Given the description of an element on the screen output the (x, y) to click on. 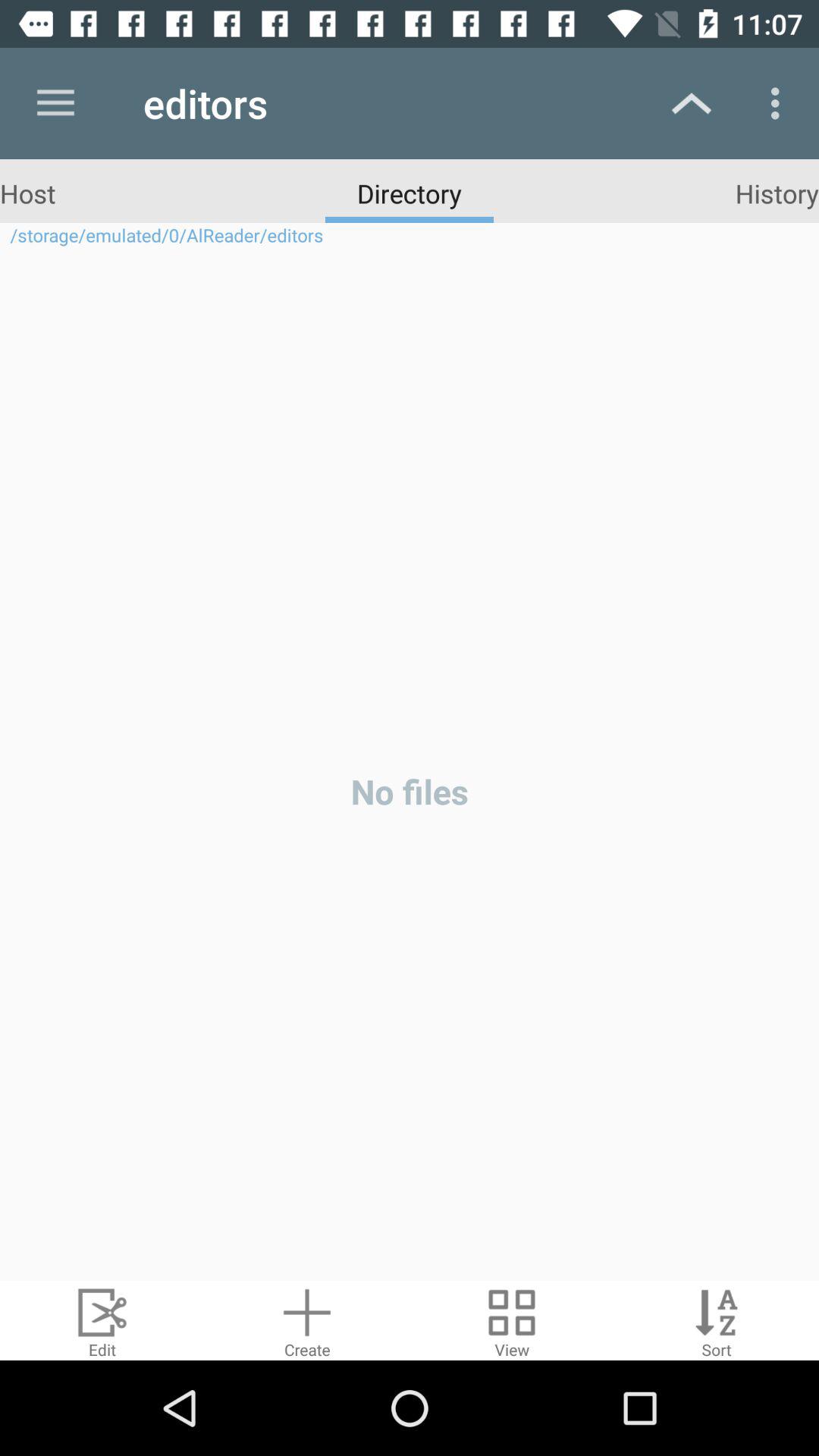
turn off the host app (27, 193)
